Given the description of an element on the screen output the (x, y) to click on. 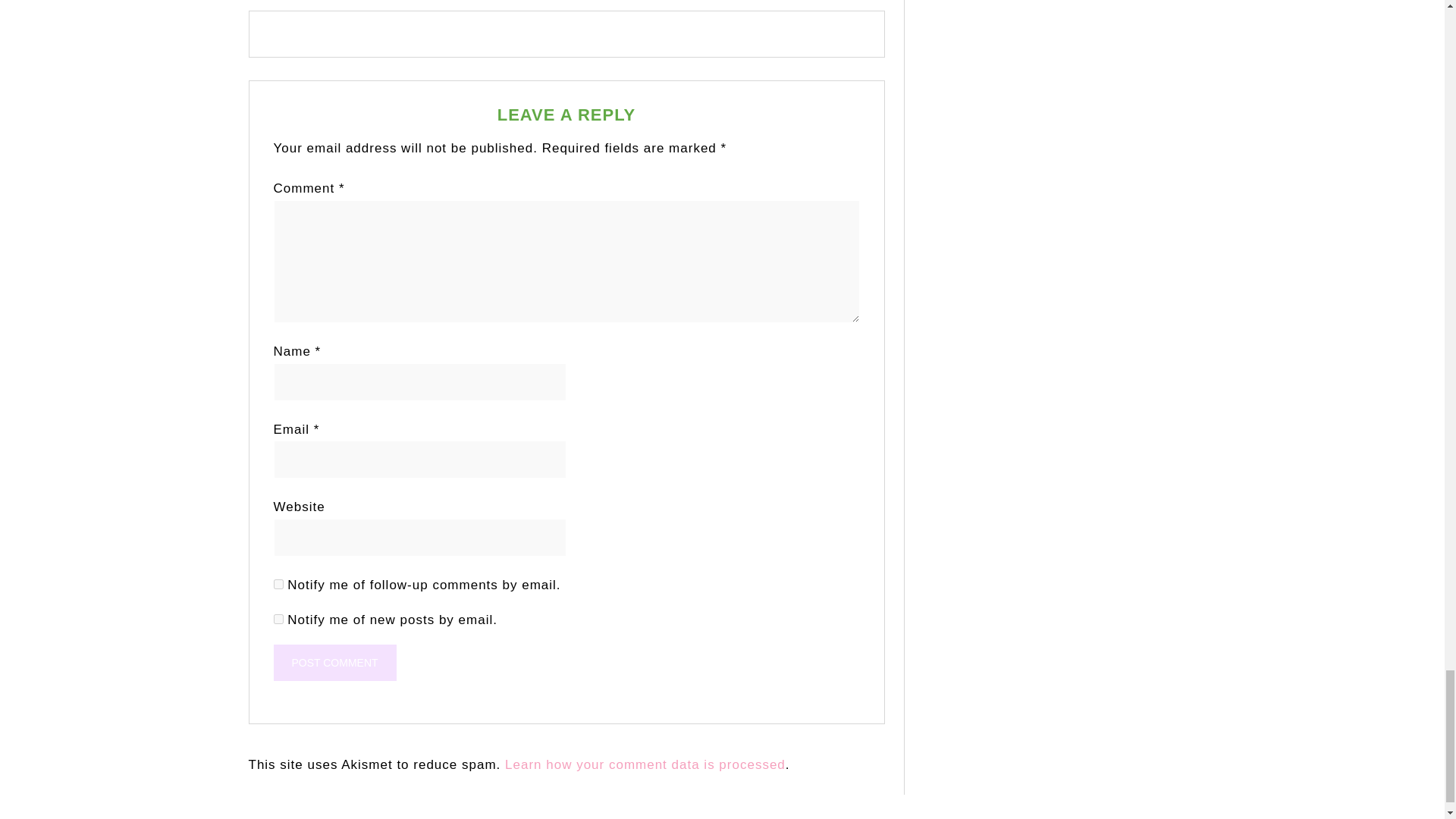
subscribe (277, 619)
Learn how your comment data is processed (645, 764)
subscribe (277, 583)
Post Comment (334, 662)
Post Comment (334, 662)
